Given the description of an element on the screen output the (x, y) to click on. 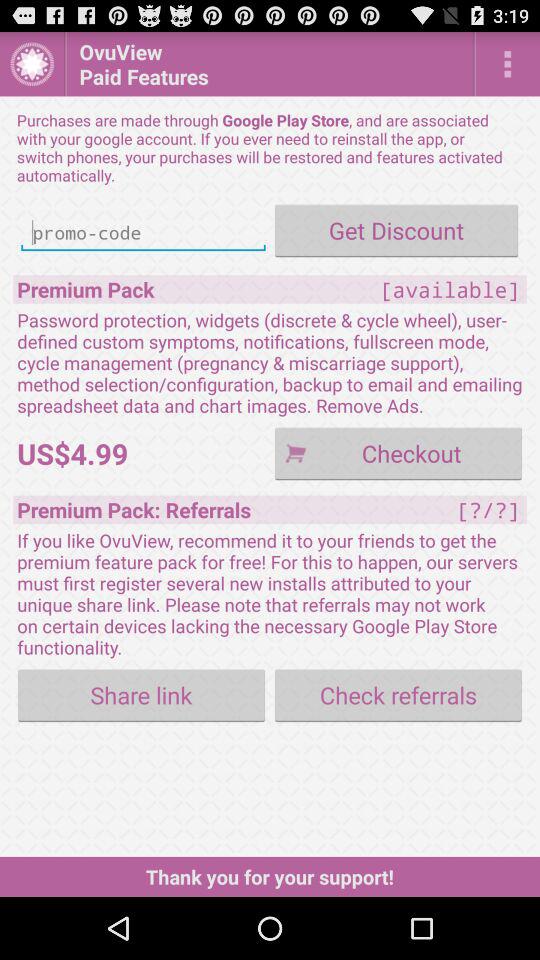
choose icon to the right of the share link button (398, 694)
